Given the description of an element on the screen output the (x, y) to click on. 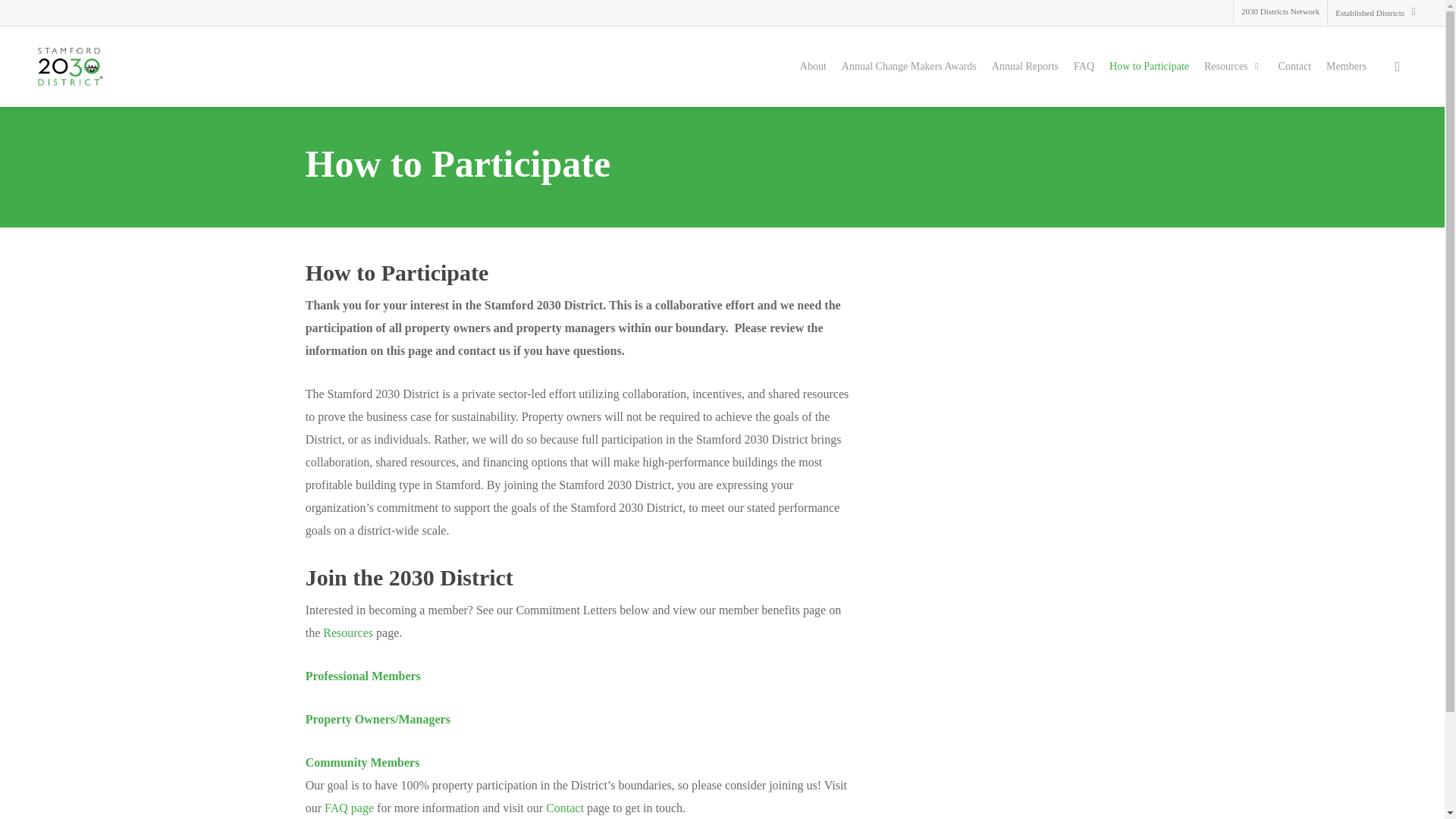
2030 Districts Network (1279, 11)
Established Districts (1374, 12)
About (813, 66)
Annual Change Makers Awards (909, 66)
